Given the description of an element on the screen output the (x, y) to click on. 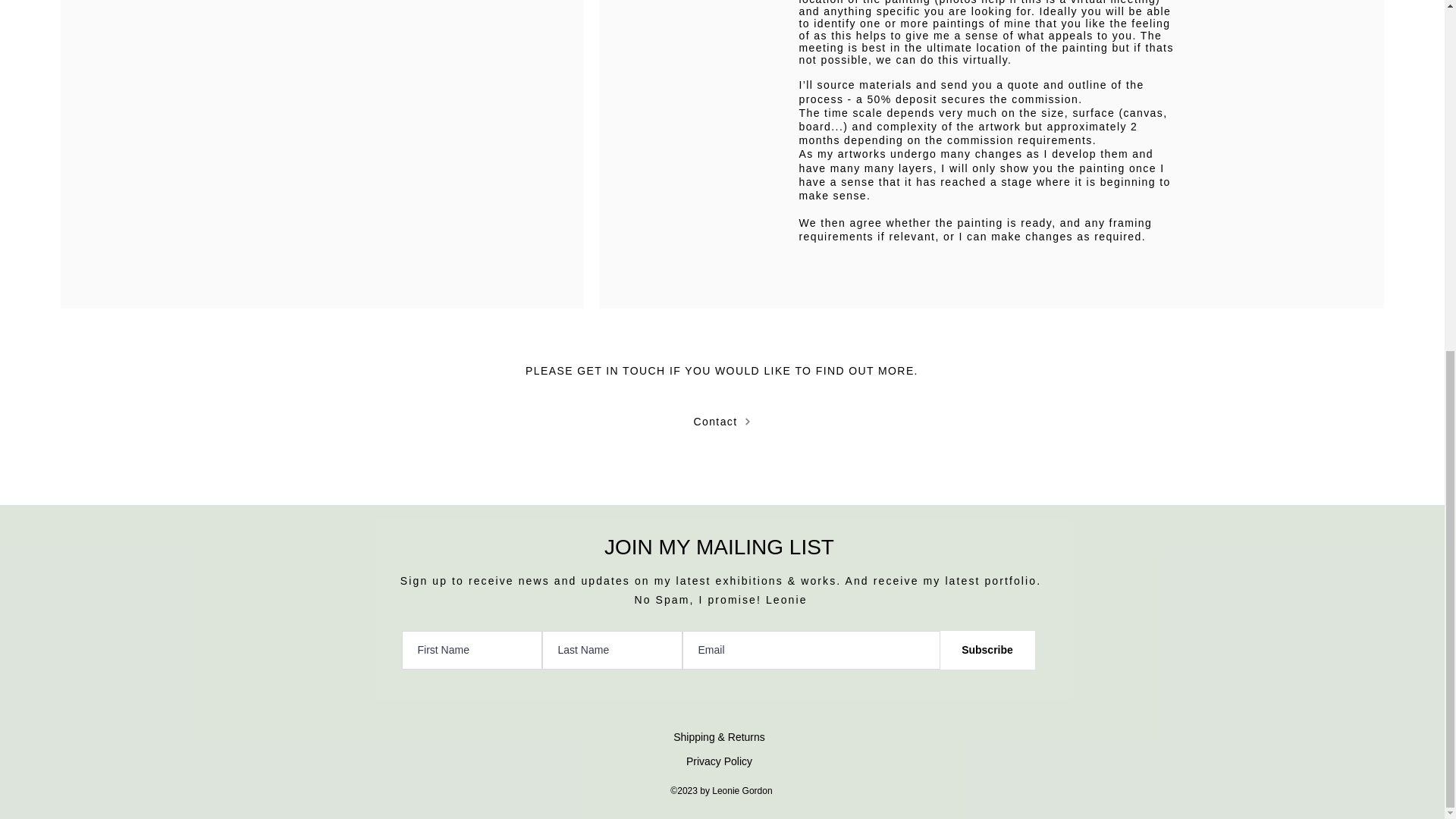
Subscribe (987, 649)
Contact (722, 421)
Privacy Policy (718, 761)
